Given the description of an element on the screen output the (x, y) to click on. 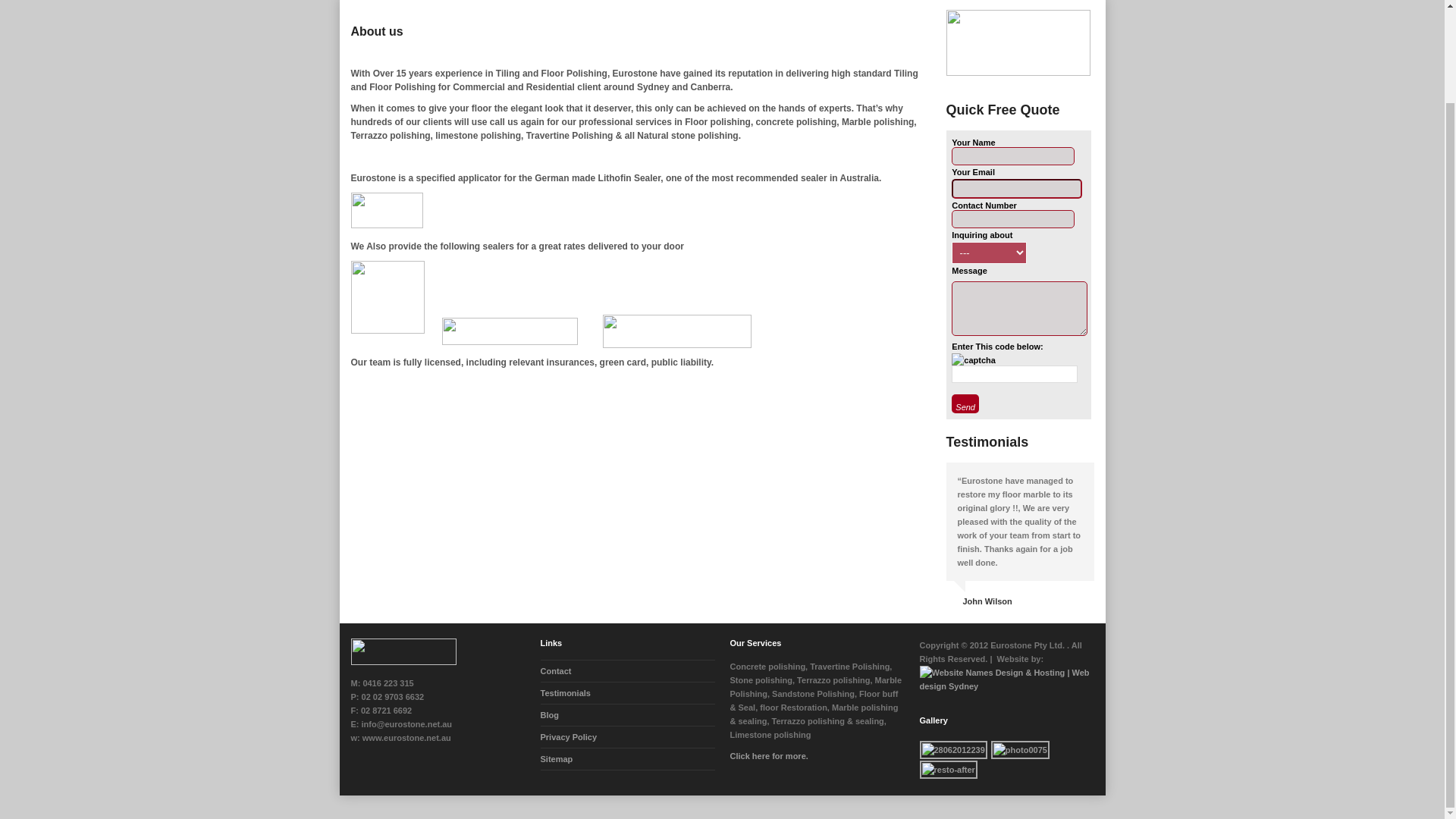
Privacy Policy (568, 737)
photo0075 (1020, 750)
Send (965, 403)
Blog (548, 714)
Click here for more. (768, 755)
Contact (555, 670)
aquaseal (676, 331)
28062012239 (952, 750)
dry treat sealer - floor sealing (510, 330)
Sitemap (556, 758)
